Given the description of an element on the screen output the (x, y) to click on. 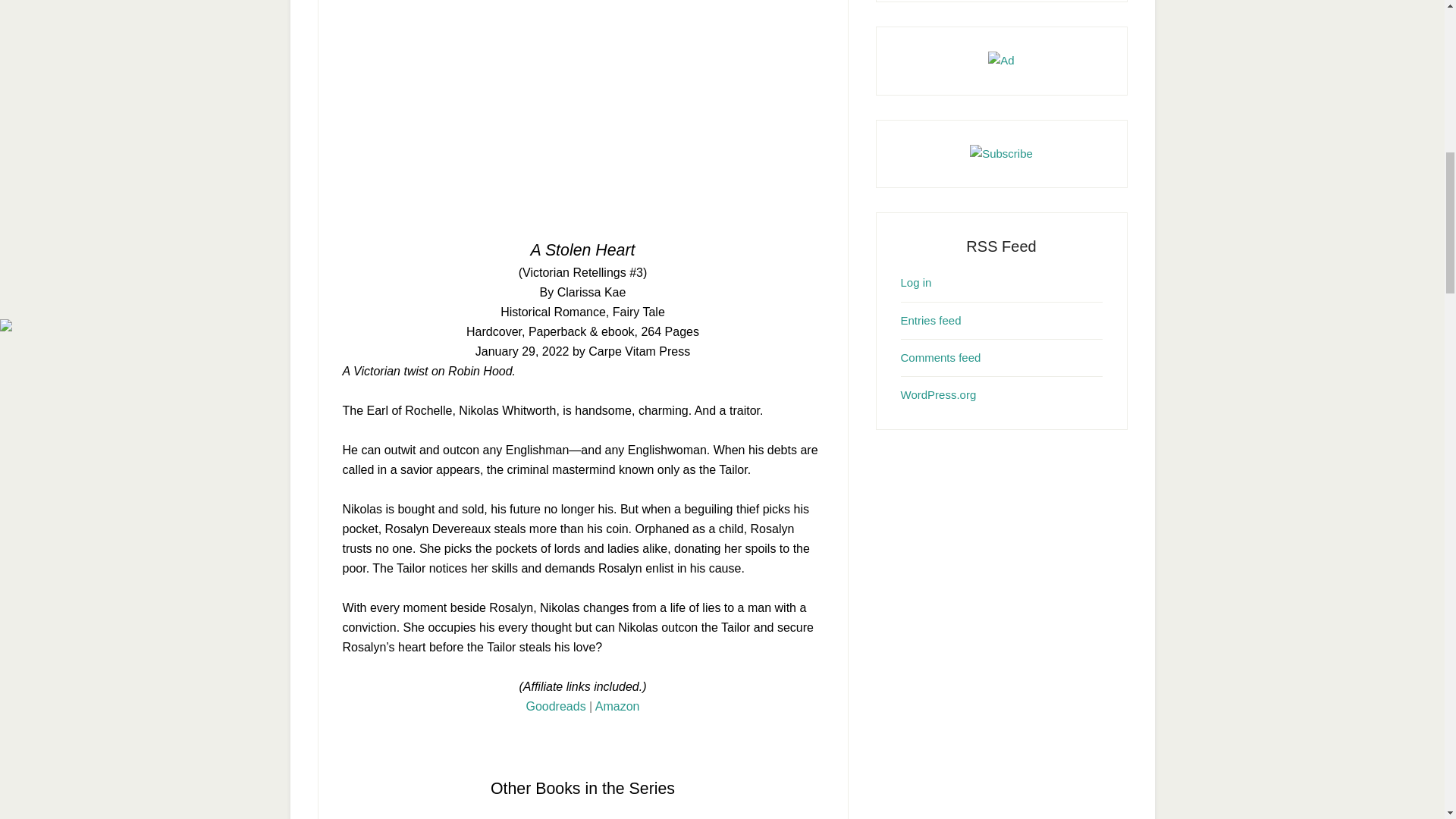
Goodreads (555, 706)
Amazon (617, 706)
